Given the description of an element on the screen output the (x, y) to click on. 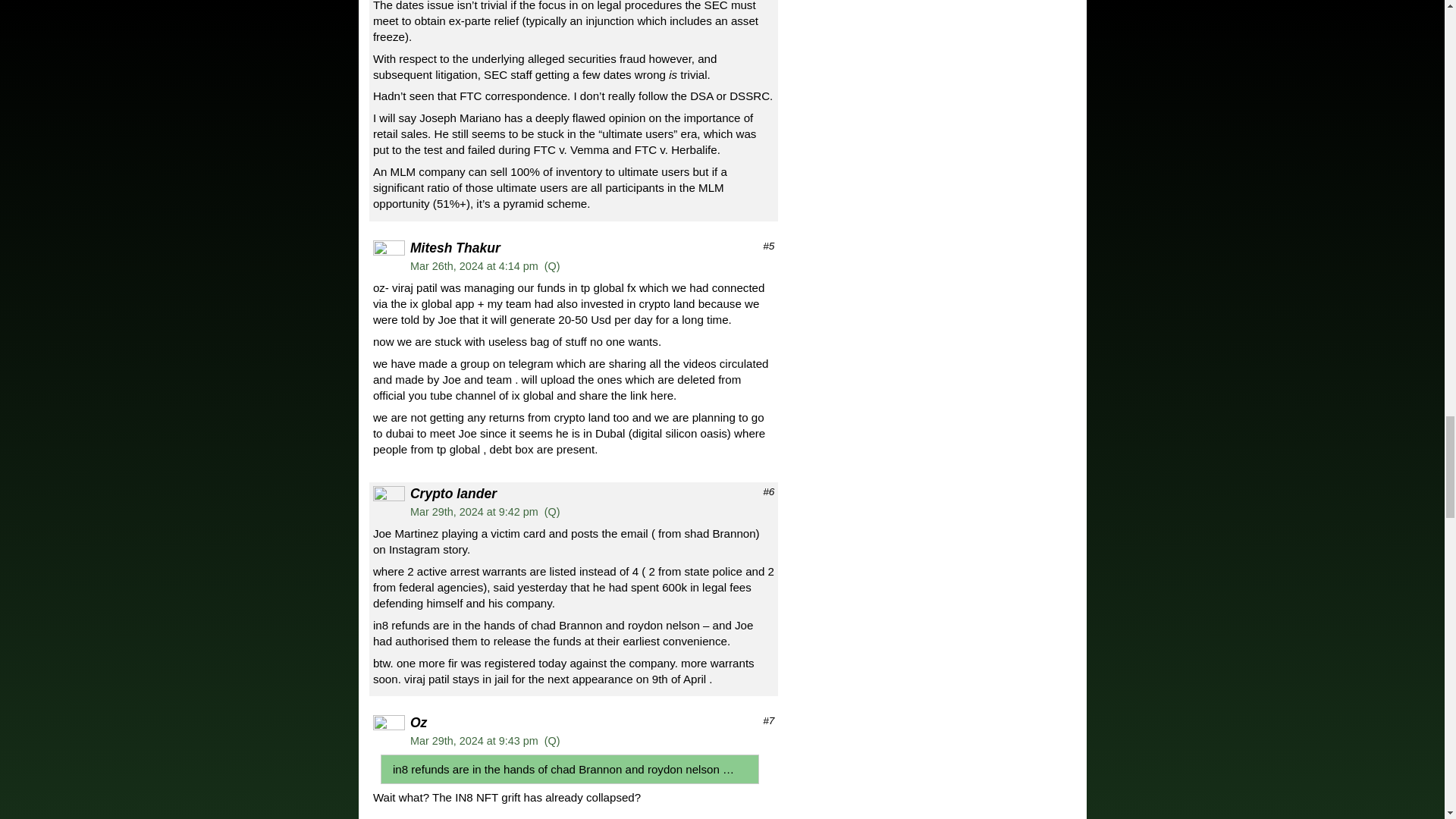
Mar 26th, 2024 at 4:14 pm (474, 265)
Click here or select text to quote comment (552, 265)
Mar 29th, 2024 at 9:42 pm (474, 511)
Click here or select text to quote comment (552, 511)
Mar 29th, 2024 at 9:43 pm (474, 740)
